Given the description of an element on the screen output the (x, y) to click on. 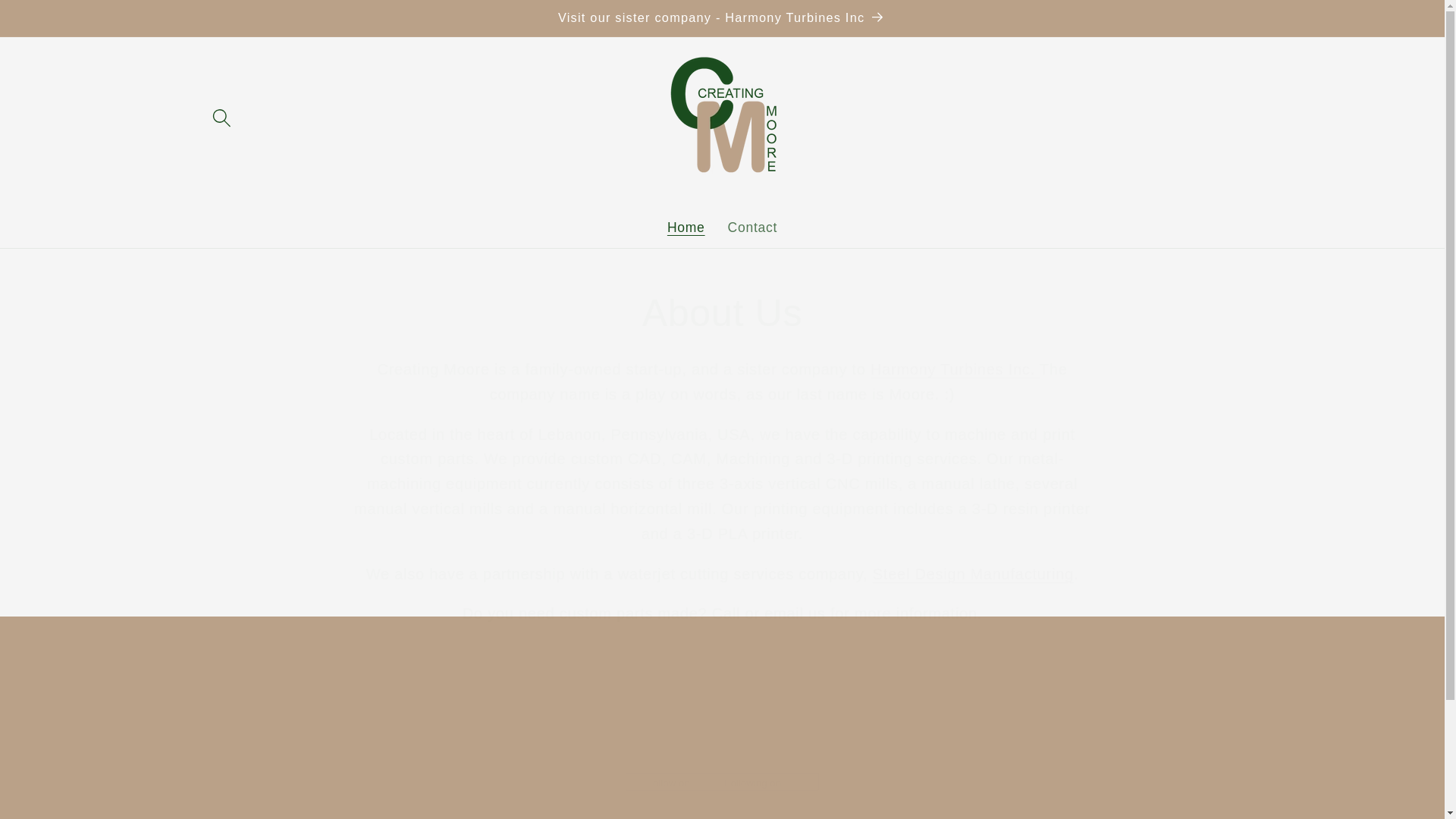
Harmony Turbines Inc.  (954, 369)
Home (686, 228)
Steel Design Manufacturing (973, 573)
Visit our sister company - Harmony Turbines Inc (721, 18)
About Us (722, 313)
Skip to content (57, 21)
Contact (752, 228)
